Given the description of an element on the screen output the (x, y) to click on. 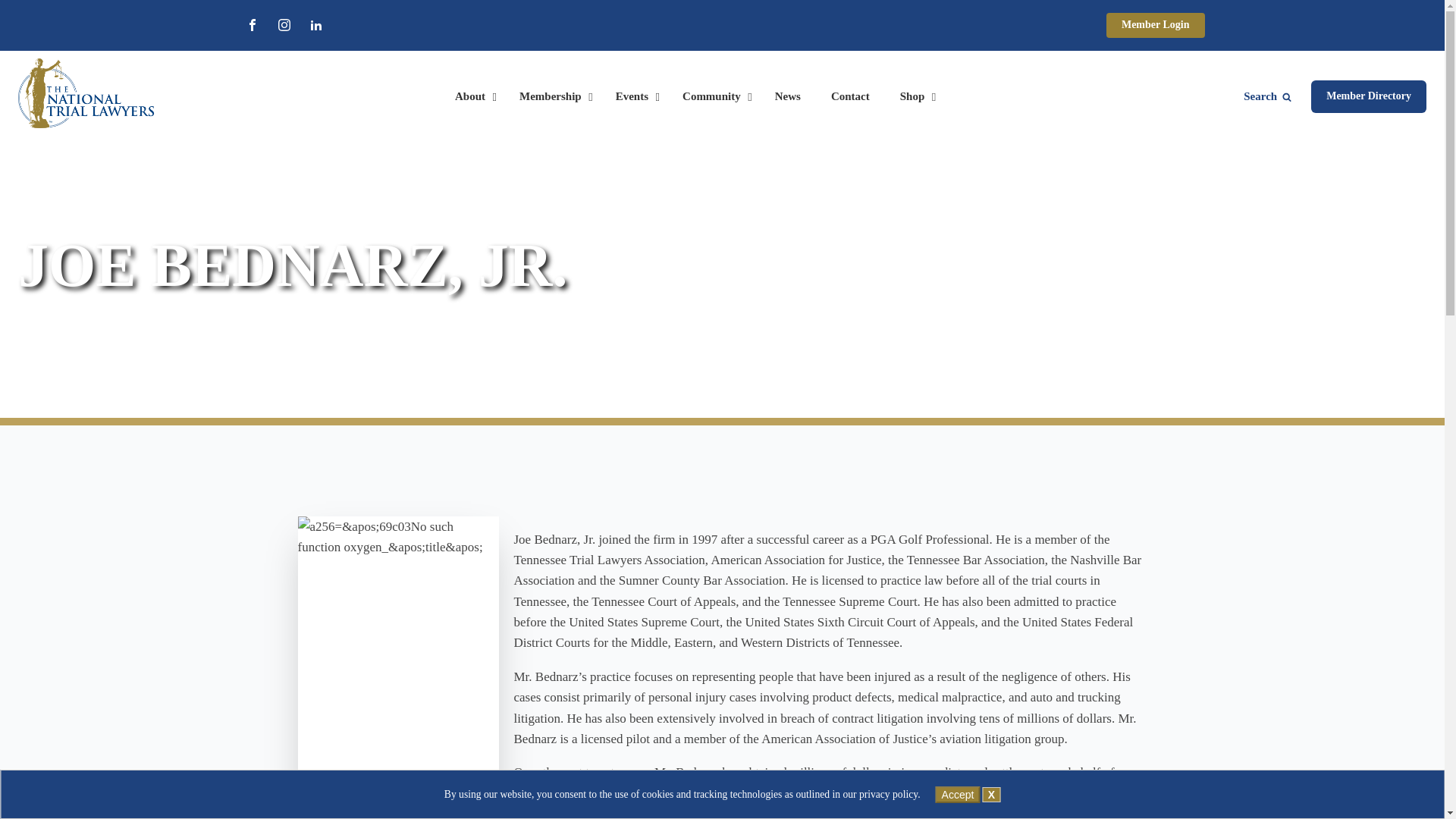
Member Login (1155, 25)
About (471, 96)
Membership (551, 96)
Accept (957, 794)
X (991, 794)
